Given the description of an element on the screen output the (x, y) to click on. 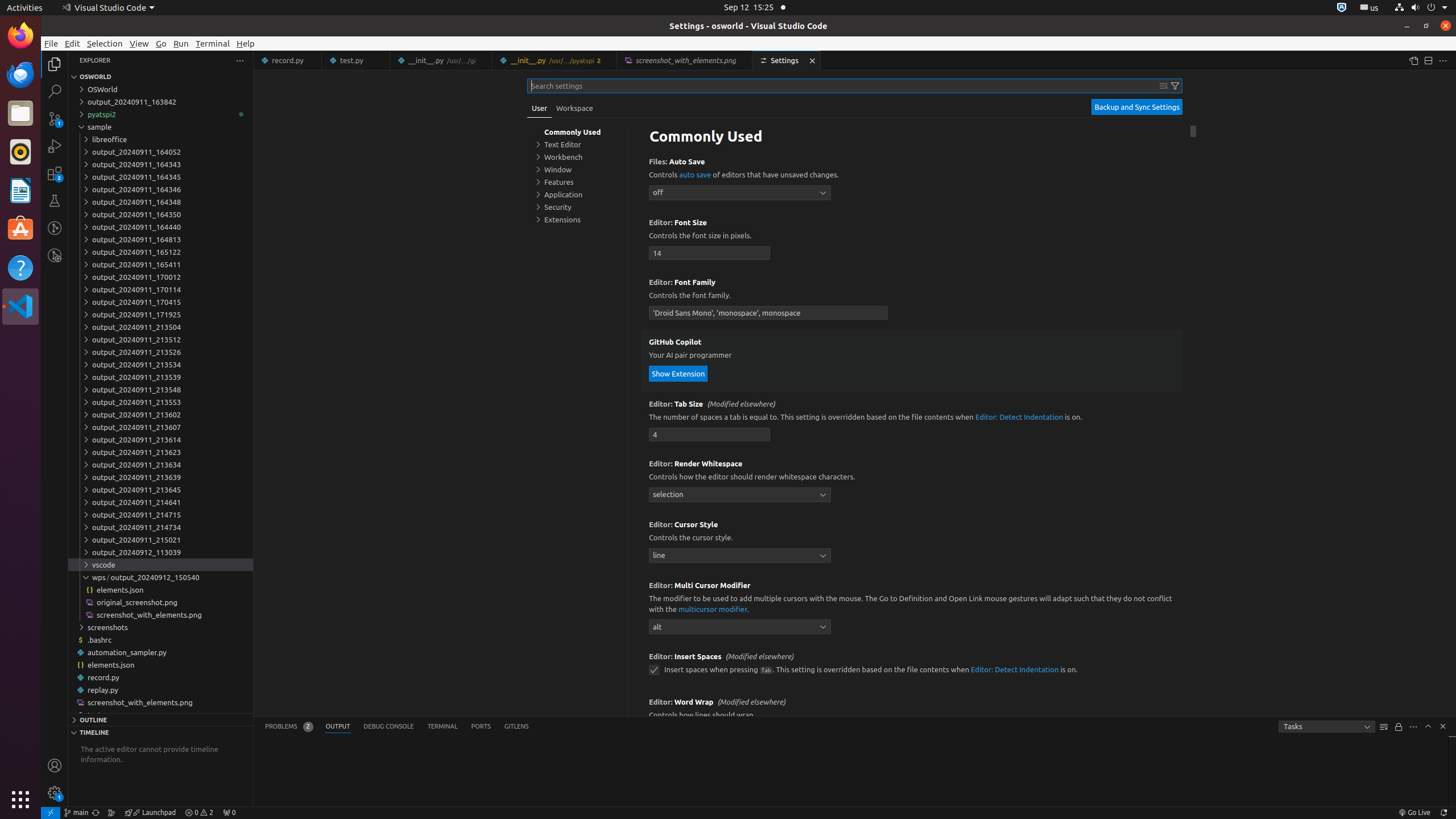
record.py Element type: tree-item (160, 677)
User Element type: check-box (539, 107)
replay.py Element type: tree-item (160, 689)
Show Extension Element type: push-button (678, 373)
Editor Font Size. Controls the font size in pixels.  Element type: tree-item (911, 240)
